Given the description of an element on the screen output the (x, y) to click on. 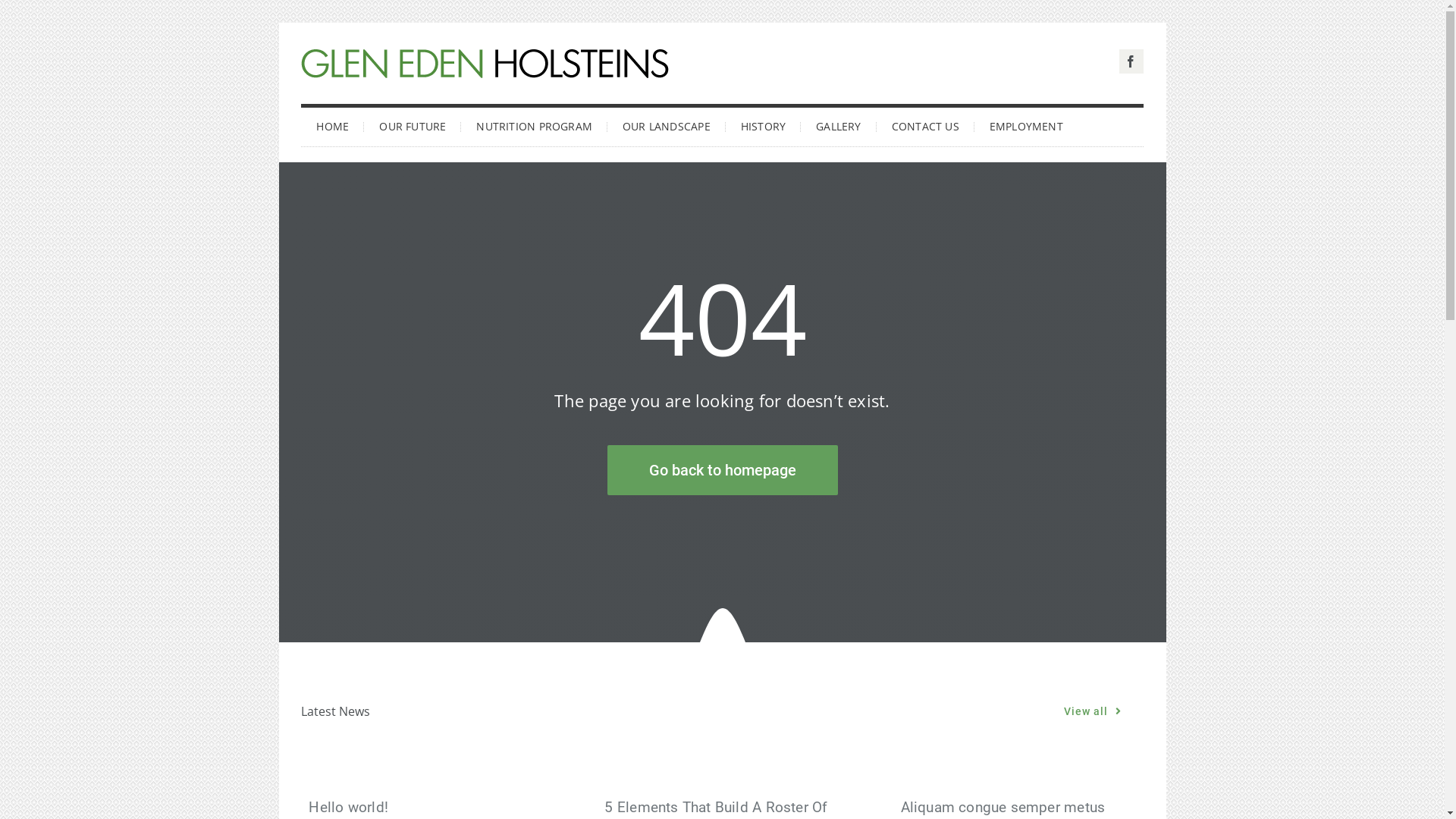
OUR FUTURE Element type: text (412, 124)
OUR LANDSCAPE Element type: text (666, 124)
Go back to homepage Element type: text (721, 470)
EMPLOYMENT Element type: text (1026, 124)
View all Element type: text (1092, 711)
GALLERY Element type: text (837, 124)
Hello world! Element type: text (348, 806)
Aliquam congue semper metus Element type: text (1002, 806)
Facebook Element type: hover (1131, 61)
HISTORY Element type: text (762, 124)
CONTACT US Element type: text (925, 124)
HOME Element type: text (332, 124)
NUTRITION PROGRAM Element type: text (534, 124)
